Given the description of an element on the screen output the (x, y) to click on. 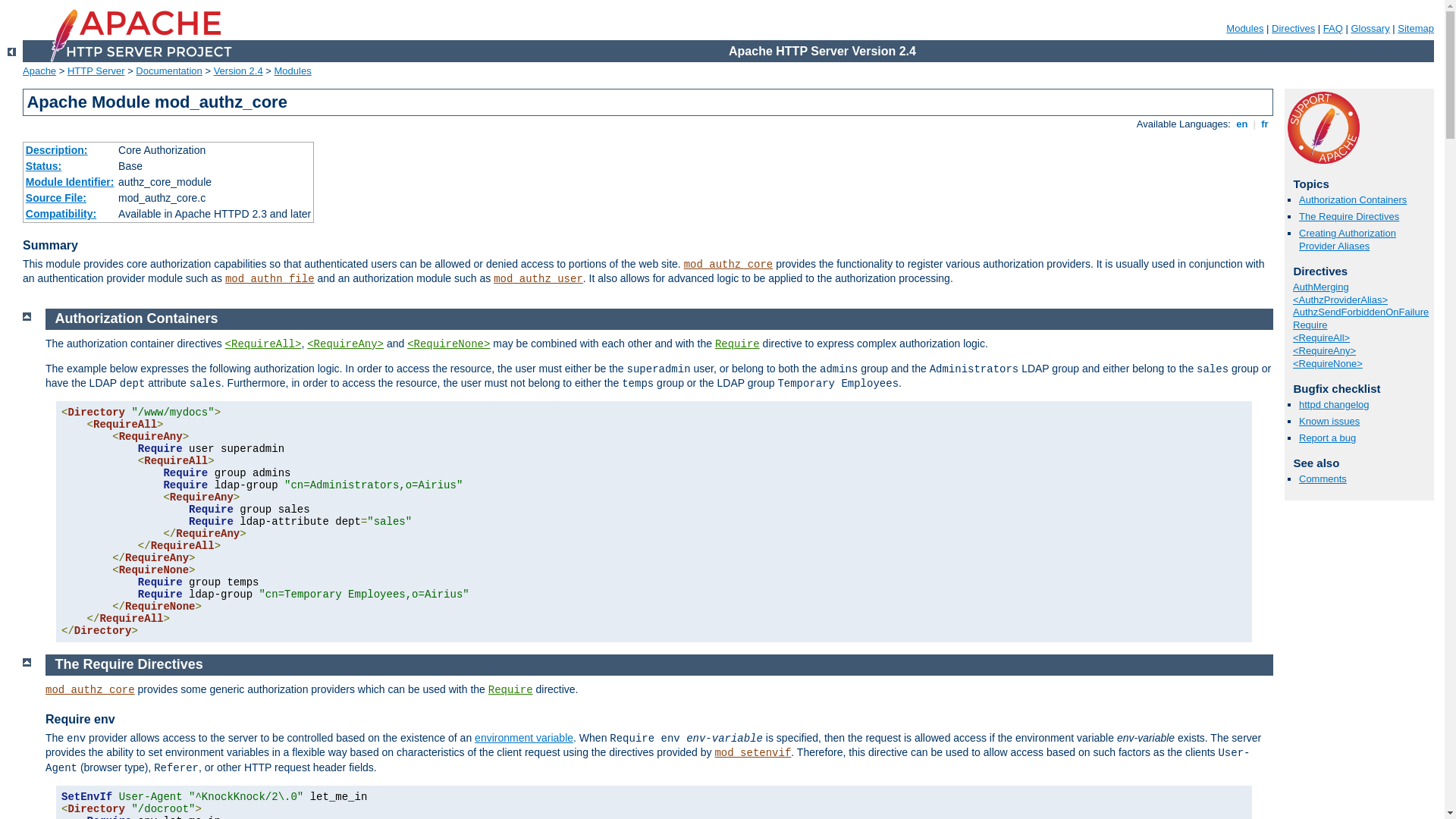
httpd changelog Element type: text (1334, 404)
Apache Element type: text (39, 70)
Sitemap Element type: text (1415, 28)
Glossary Element type: text (1369, 28)
Directives Element type: text (1292, 28)
Version 2.4 Element type: text (238, 70)
<RequireAll> Element type: text (1320, 337)
Require Element type: text (737, 344)
<RequireAny> Element type: text (345, 344)
Module Identifier: Element type: text (69, 181)
The Require Directives Element type: text (1349, 216)
Source File: Element type: text (55, 197)
<RequireAll> Element type: text (263, 344)
<RequireNone> Element type: text (448, 344)
mod_authz_user Element type: text (538, 279)
Authorization Containers Element type: text (1352, 199)
mod_authz_core Element type: text (728, 264)
Modules Element type: text (292, 70)
FAQ Element type: text (1333, 28)
Comments Element type: text (1322, 478)
The Require Directives Element type: text (129, 663)
mod_setenvif Element type: text (752, 752)
Require env Element type: text (80, 718)
Creating Authorization Provider Aliases Element type: text (1347, 239)
<- Element type: hover (11, 51)
<RequireAny> Element type: text (1323, 350)
<AuthzProviderAlias> Element type: text (1339, 299)
Compatibility: Element type: text (60, 213)
mod_authn_file Element type: text (269, 279)
Authorization Containers Element type: text (136, 318)
AuthzSendForbiddenOnFailure Element type: text (1360, 311)
Report a bug Element type: text (1327, 437)
HTTP Server Element type: text (96, 70)
Status: Element type: text (43, 166)
mod_authz_core Element type: text (89, 690)
Known issues Element type: text (1329, 420)
Require Element type: text (510, 690)
 en  Element type: text (1241, 123)
Modules Element type: text (1244, 28)
<RequireNone> Element type: text (1327, 363)
AuthMerging Element type: text (1320, 286)
Documentation Element type: text (168, 70)
 fr  Element type: text (1264, 123)
Description: Element type: text (56, 150)
Require Element type: text (1309, 324)
environment variable Element type: text (523, 737)
